Given the description of an element on the screen output the (x, y) to click on. 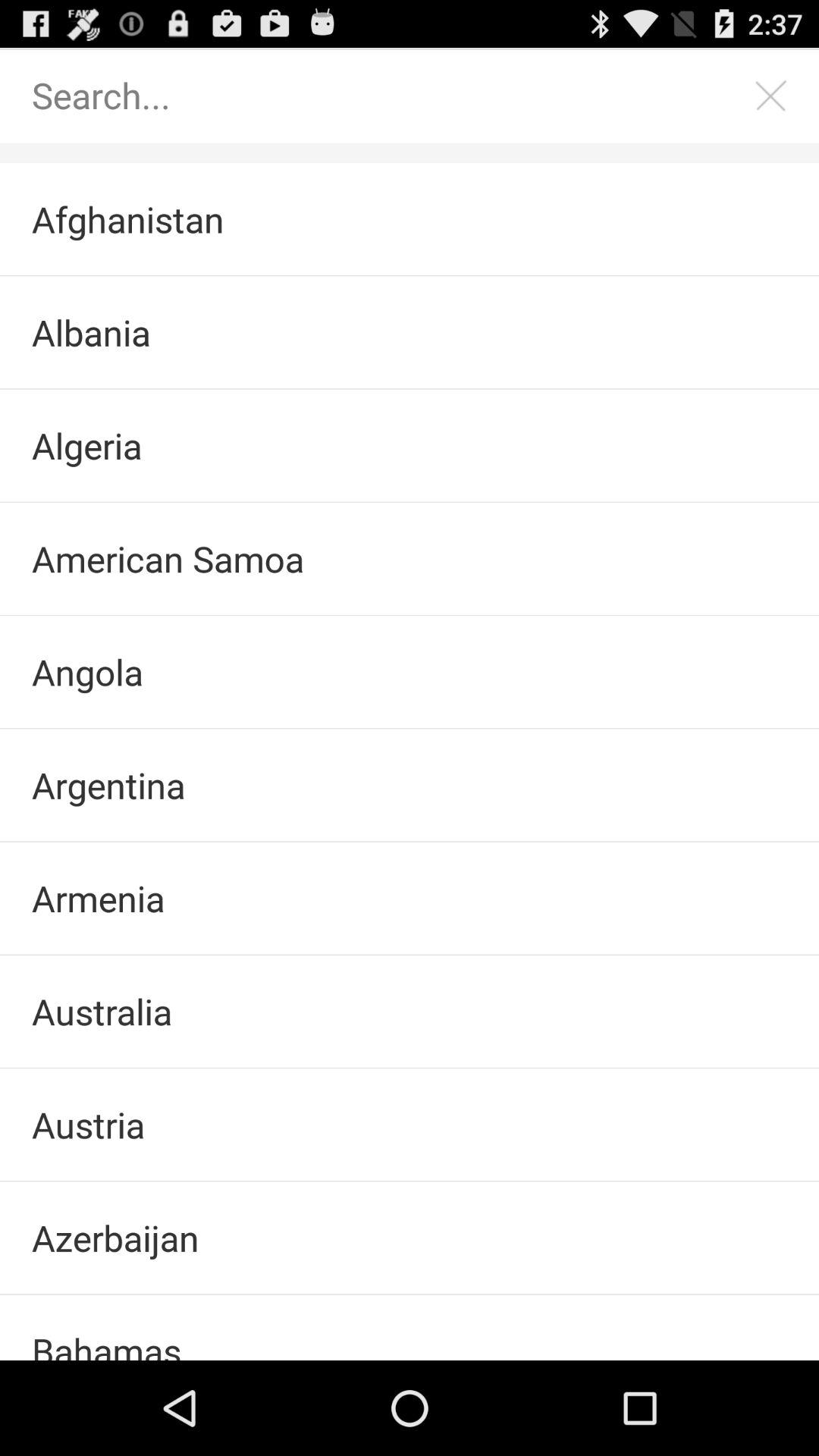
scroll to angola checkbox (409, 671)
